Given the description of an element on the screen output the (x, y) to click on. 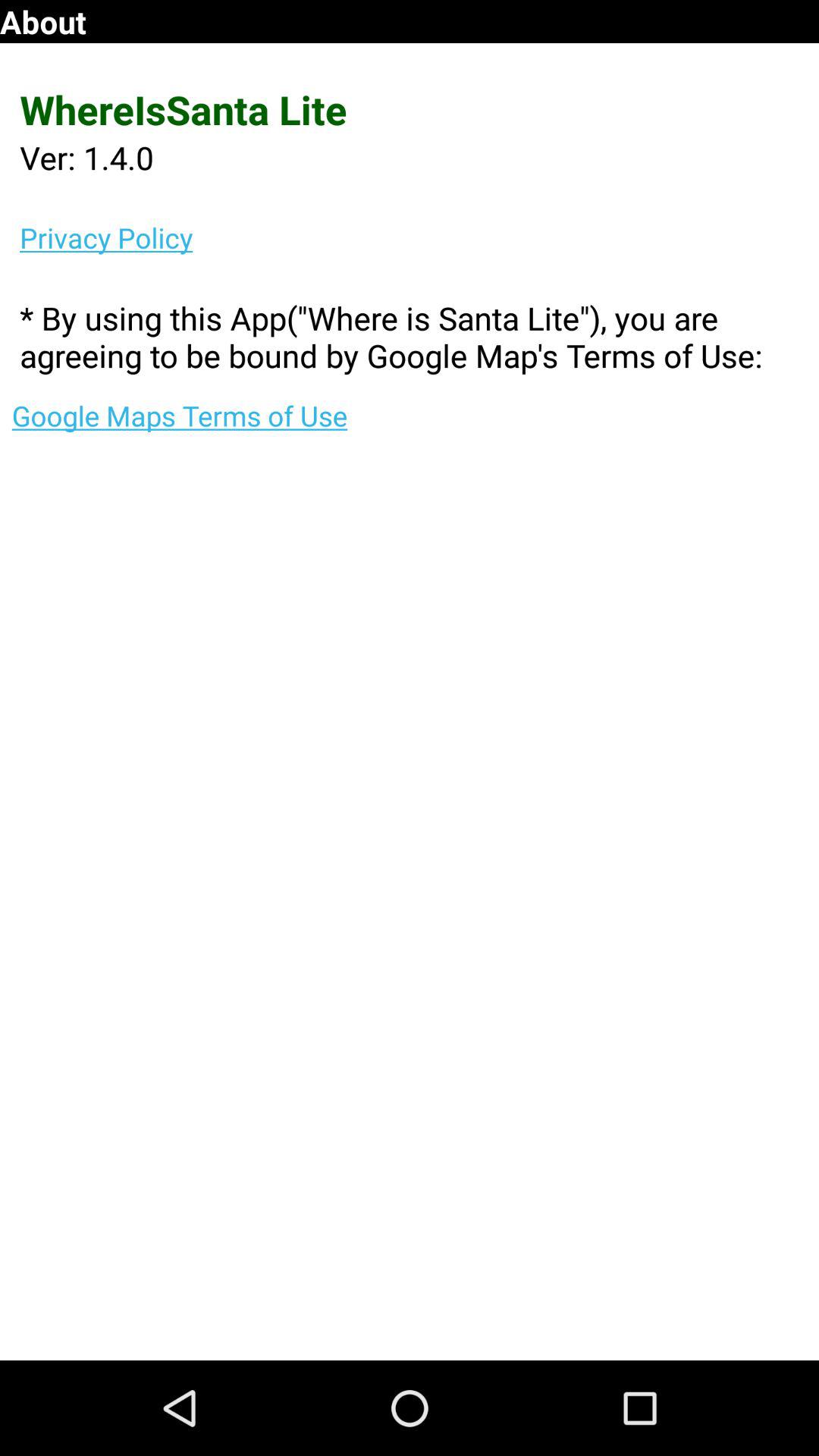
turn off the icon above the by using this item (419, 237)
